Given the description of an element on the screen output the (x, y) to click on. 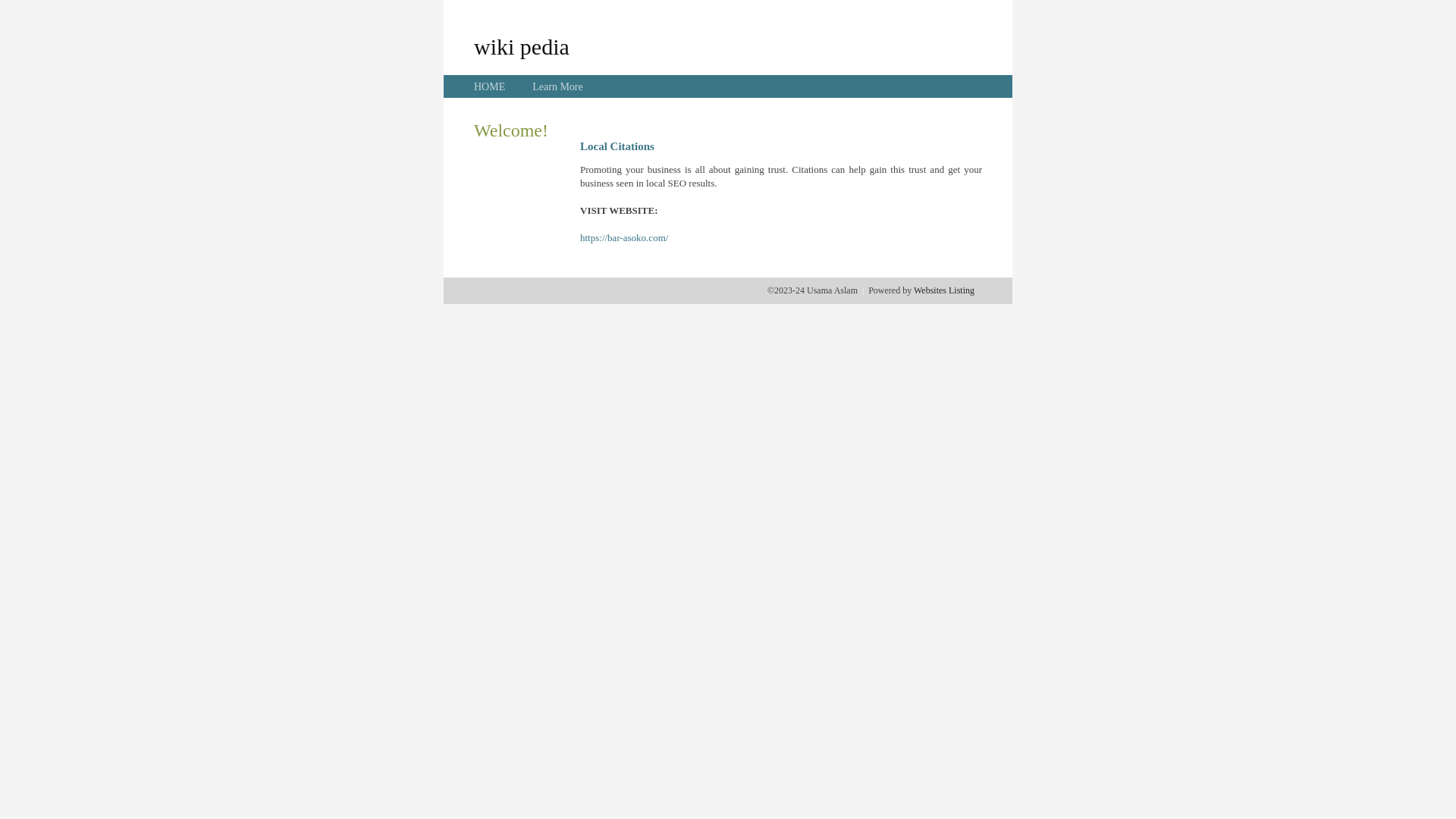
Learn More Element type: text (557, 86)
https://bar-asoko.com/ Element type: text (624, 237)
Websites Listing Element type: text (943, 290)
HOME Element type: text (489, 86)
wiki pedia Element type: text (521, 46)
